Given the description of an element on the screen output the (x, y) to click on. 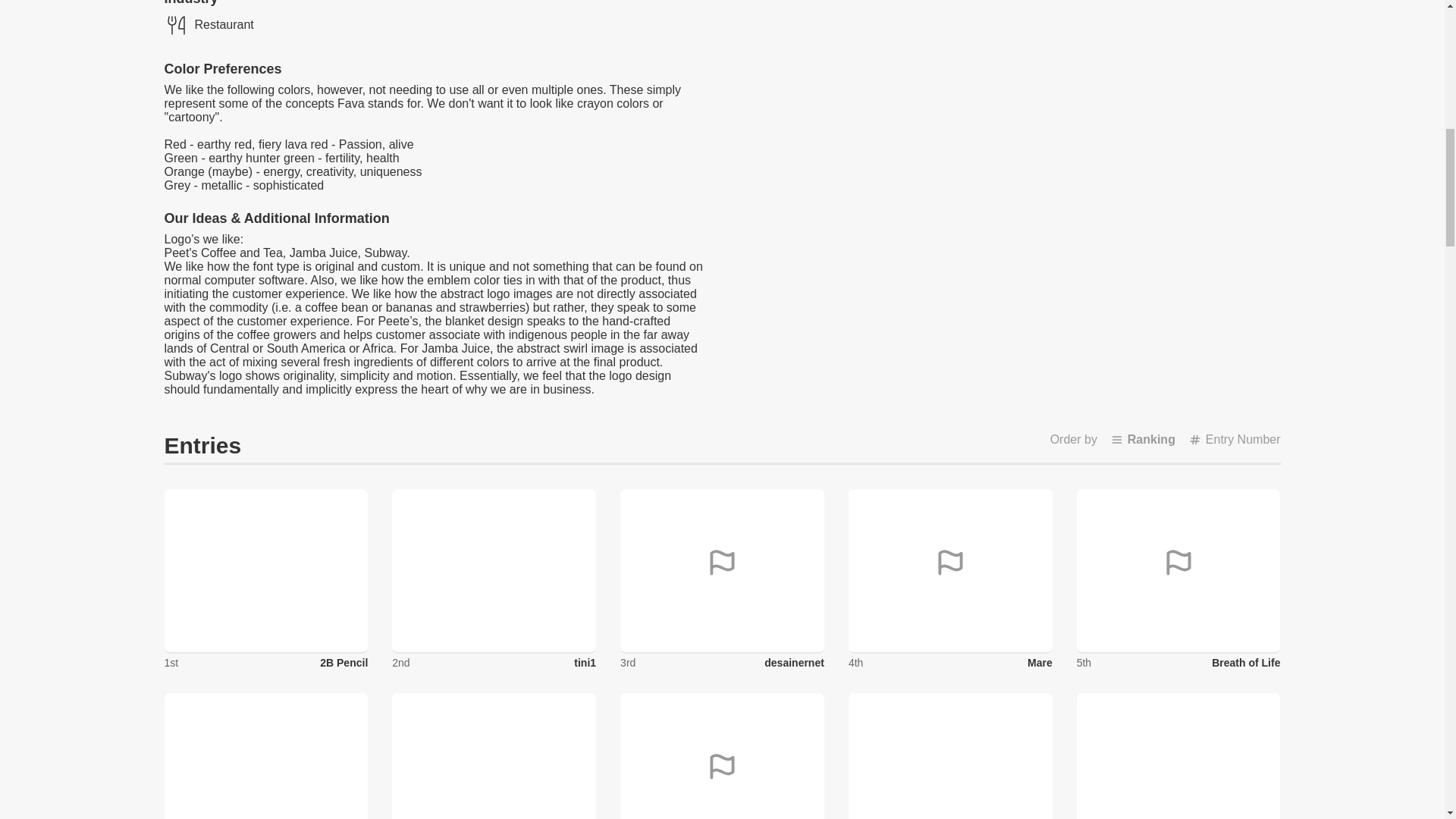
desainernet (794, 662)
tini1 (584, 662)
Mare (1039, 662)
2B Pencil (344, 662)
Breath of Life (1245, 662)
